Given the description of an element on the screen output the (x, y) to click on. 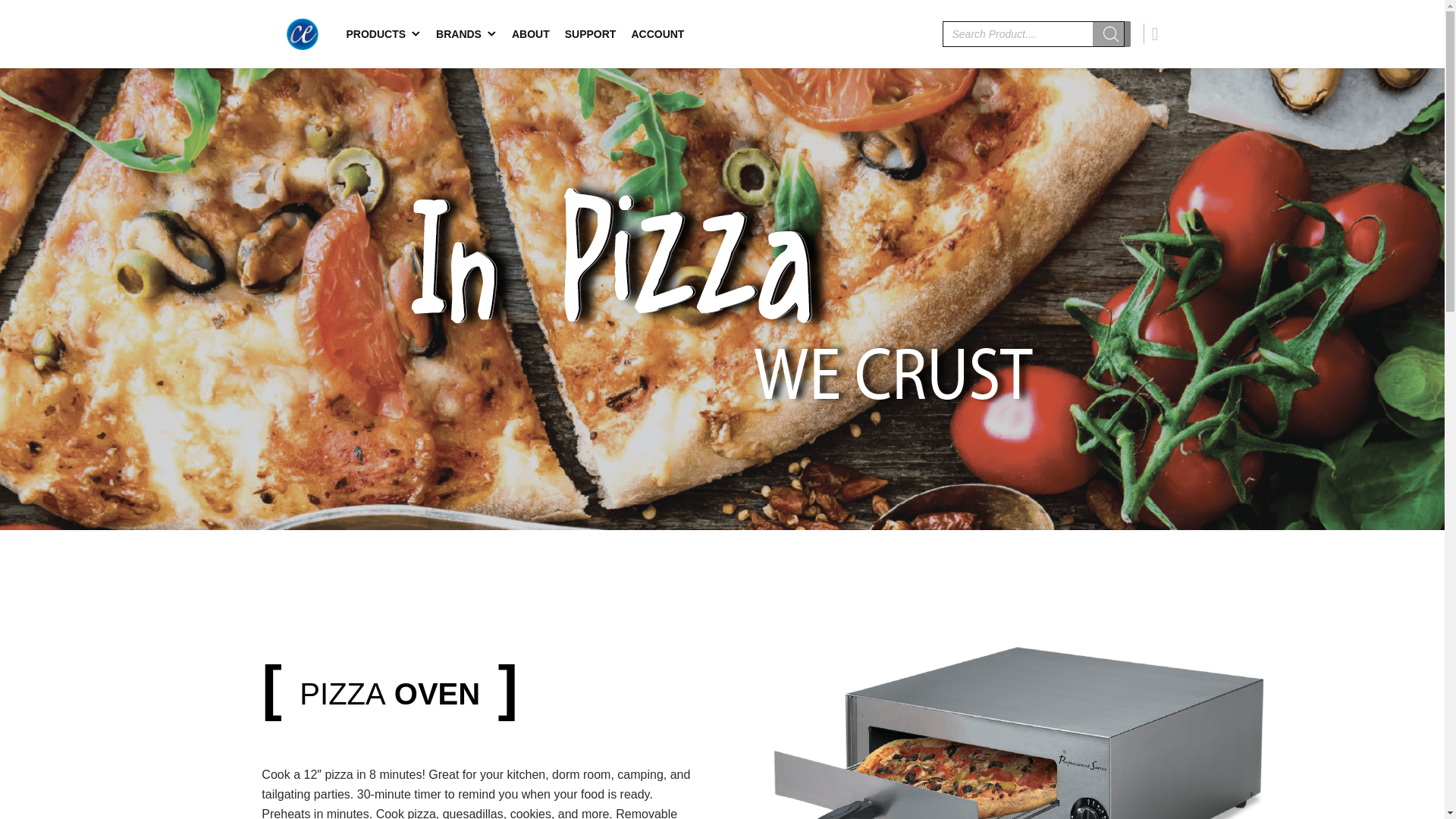
pizza oven-04 (1011, 728)
PRODUCTS (382, 33)
